Given the description of an element on the screen output the (x, y) to click on. 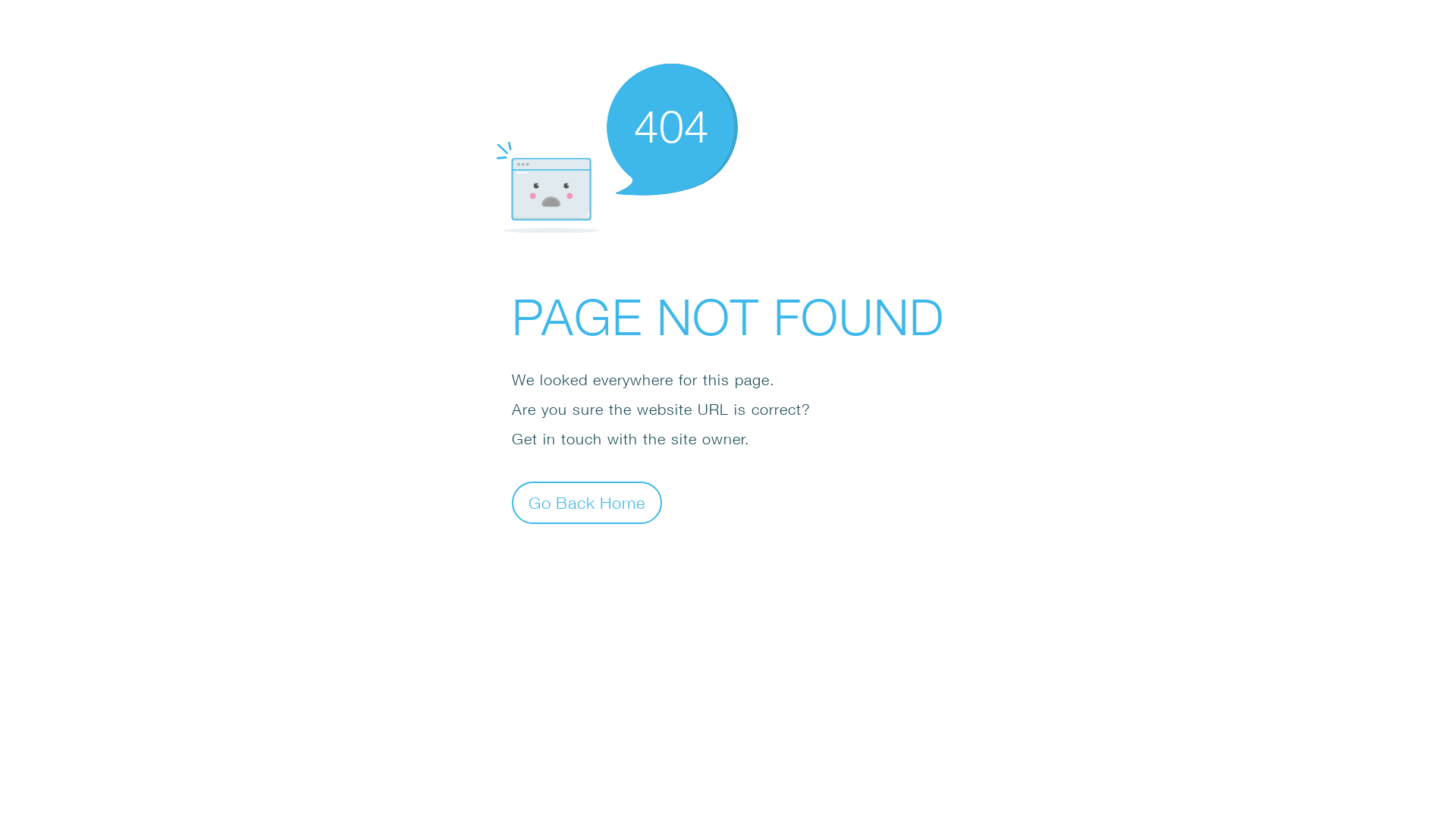
Go Back Home Element type: text (586, 502)
